Given the description of an element on the screen output the (x, y) to click on. 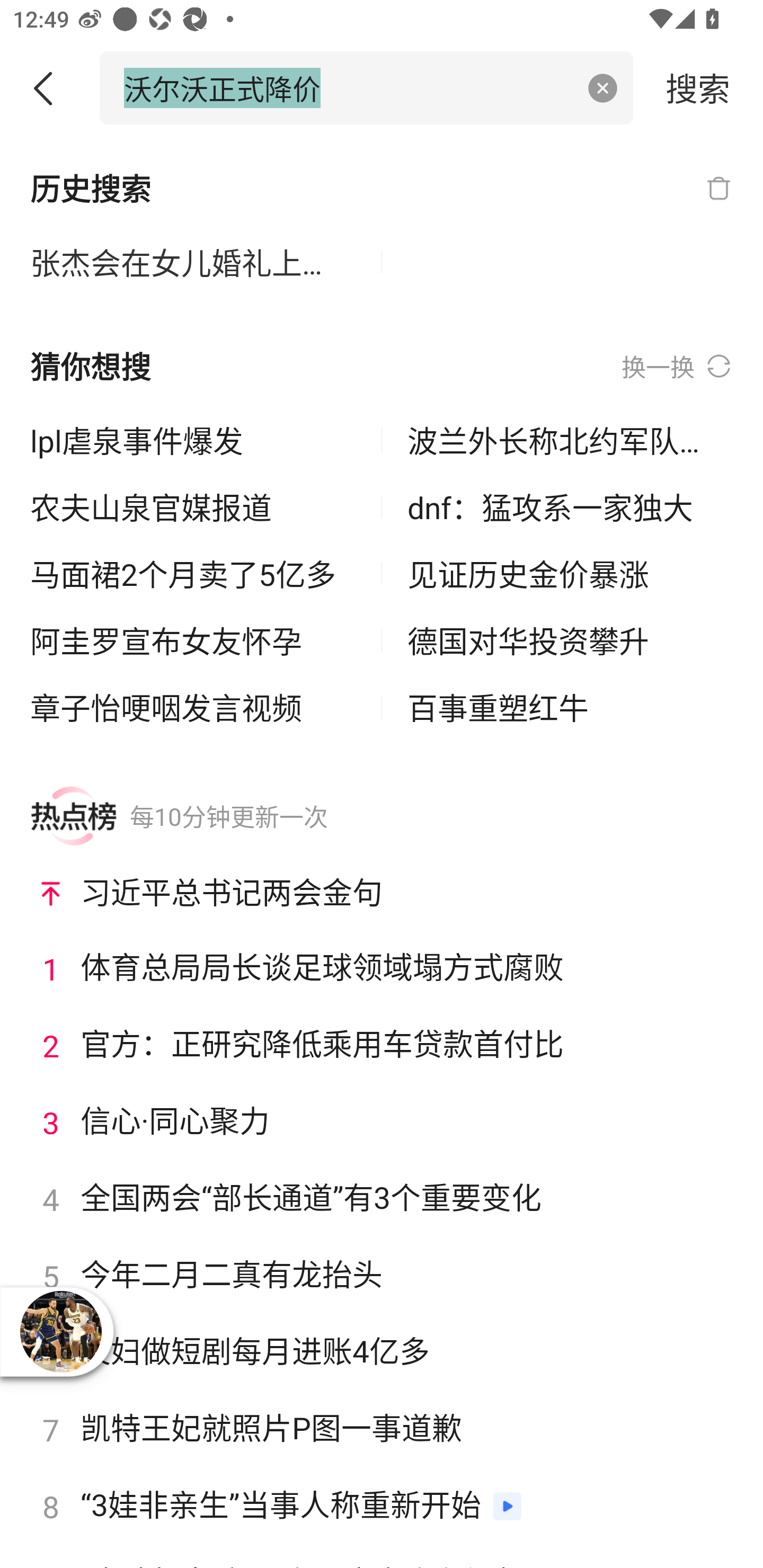
返回 (49, 87)
搜索 (698, 87)
沃尔沃正式降价 (347, 87)
清空 (602, 88)
张杰会在女儿婚礼上唱三生三世 (193, 262)
换一换 (676, 366)
lpl虐泉事件爆发 (193, 439)
波兰外长称北约军队已抵达乌克兰 (569, 439)
农夫山泉官媒报道 (193, 506)
dnf：猛攻系一家独大 (569, 506)
马面裙2个月卖了5亿多 (193, 573)
见证历史金价暴涨 (569, 573)
阿圭罗宣布女友怀孕 (193, 640)
德国对华投资攀升 (569, 640)
章子怡哽咽发言视频 (193, 707)
百事重塑红牛 (569, 707)
播放器 (60, 1331)
